Given the description of an element on the screen output the (x, y) to click on. 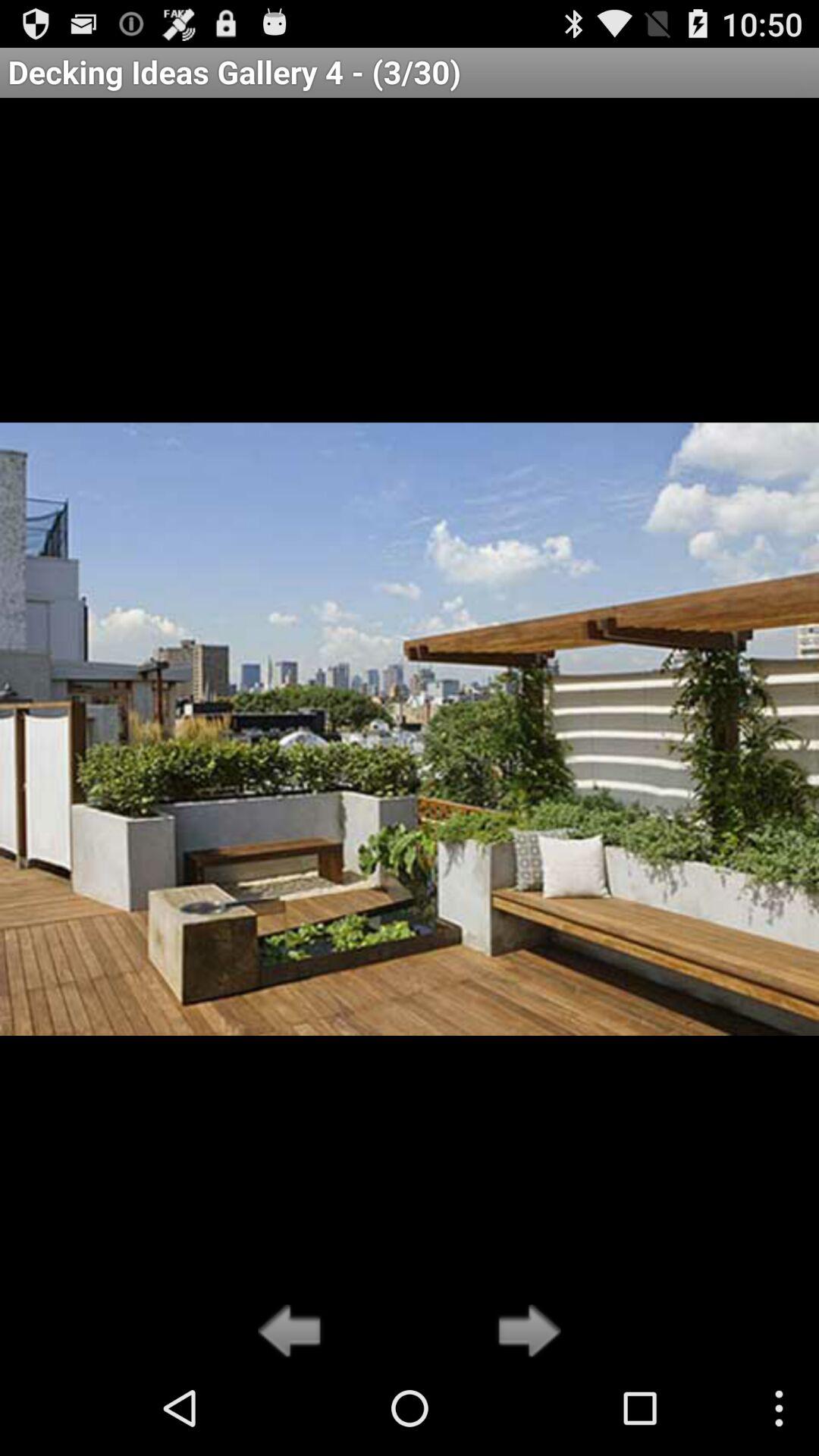
go back (293, 1332)
